Given the description of an element on the screen output the (x, y) to click on. 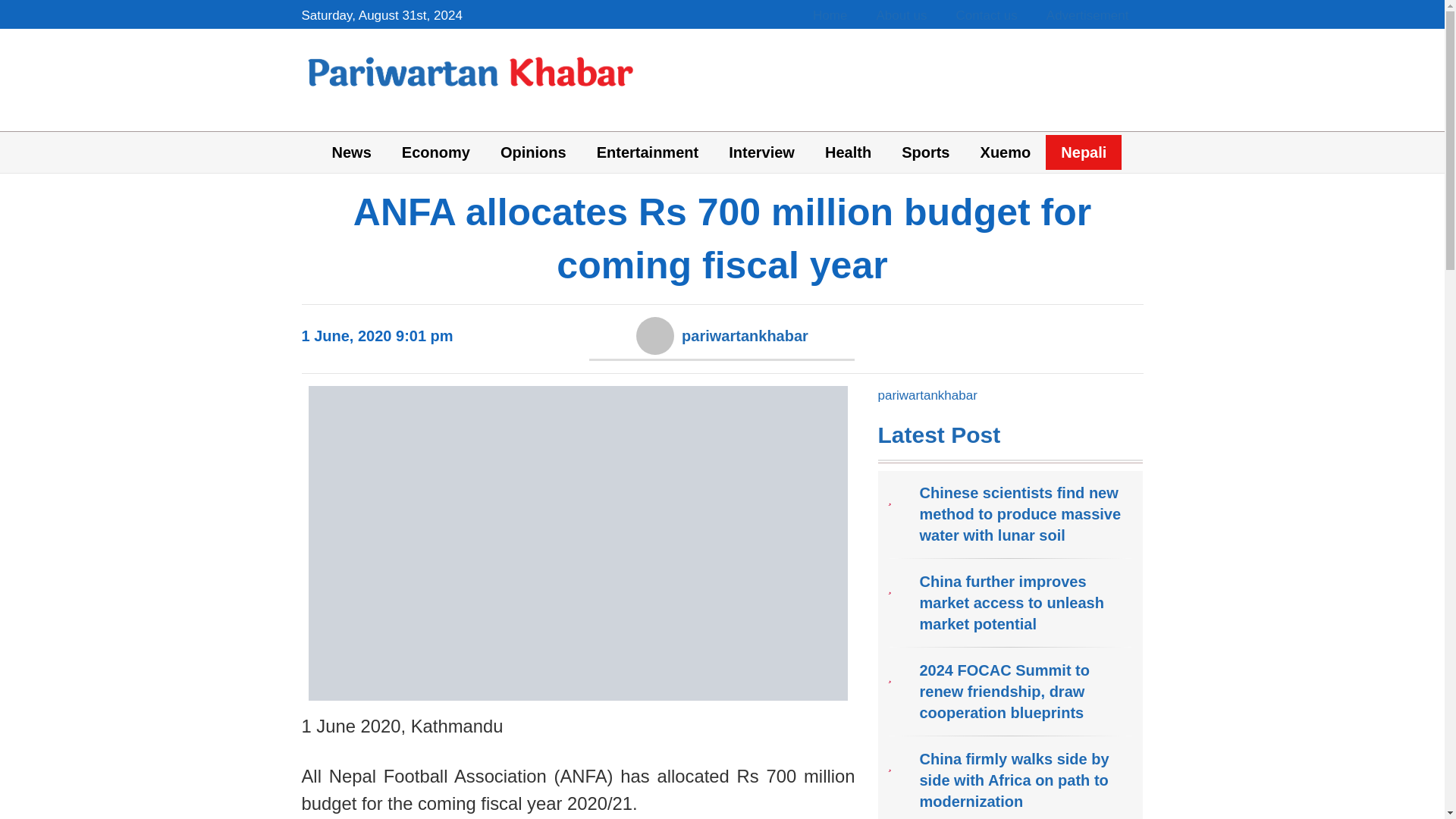
News (352, 152)
Nepali (1083, 152)
About us (898, 15)
Entertainment (647, 152)
pariwartankhabar (926, 395)
Home (826, 15)
Sports (924, 152)
